Given the description of an element on the screen output the (x, y) to click on. 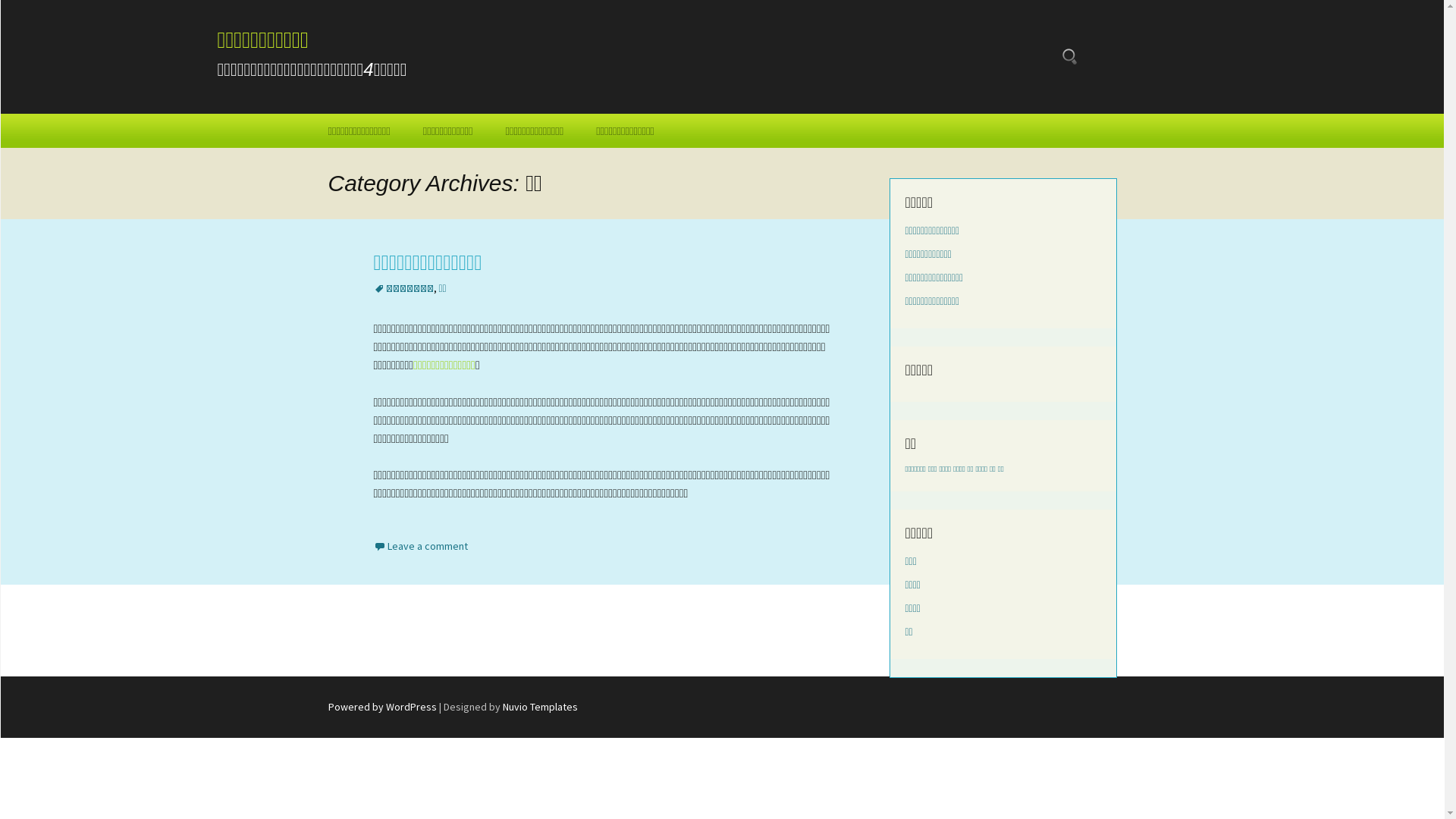
Skip to content Element type: text (312, 112)
Powered by WordPress Element type: text (381, 706)
Nuvio Templates Element type: text (539, 706)
Leave a comment Element type: text (420, 545)
